Given the description of an element on the screen output the (x, y) to click on. 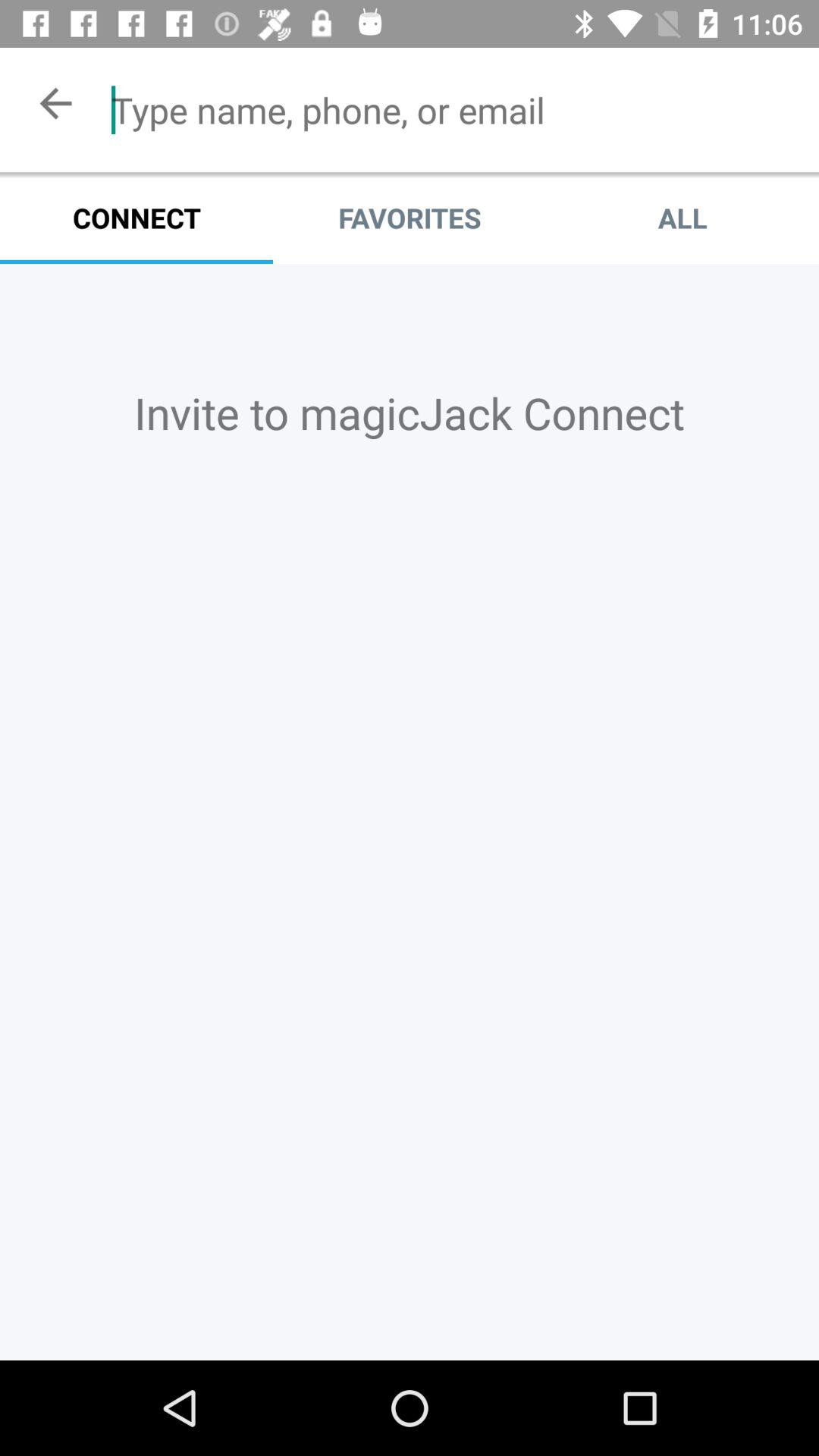
scroll until all icon (682, 217)
